Given the description of an element on the screen output the (x, y) to click on. 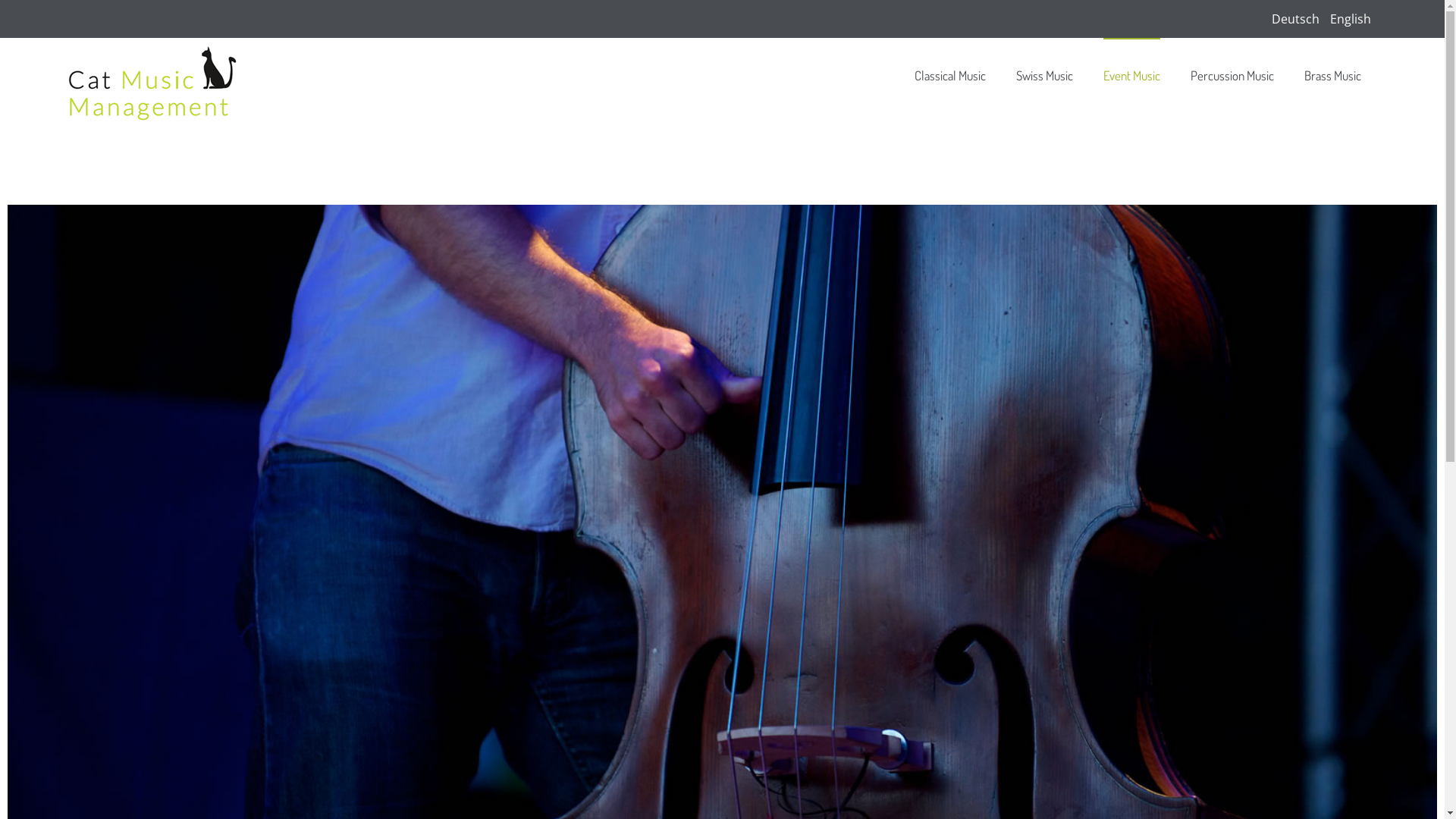
Deutsch Element type: text (1295, 18)
Brass Music Element type: text (1332, 75)
English Element type: text (1350, 18)
Classical Music Element type: text (949, 75)
Percussion Music Element type: text (1232, 75)
Swiss Music Element type: text (1044, 75)
Event Music Element type: text (1131, 75)
